Given the description of an element on the screen output the (x, y) to click on. 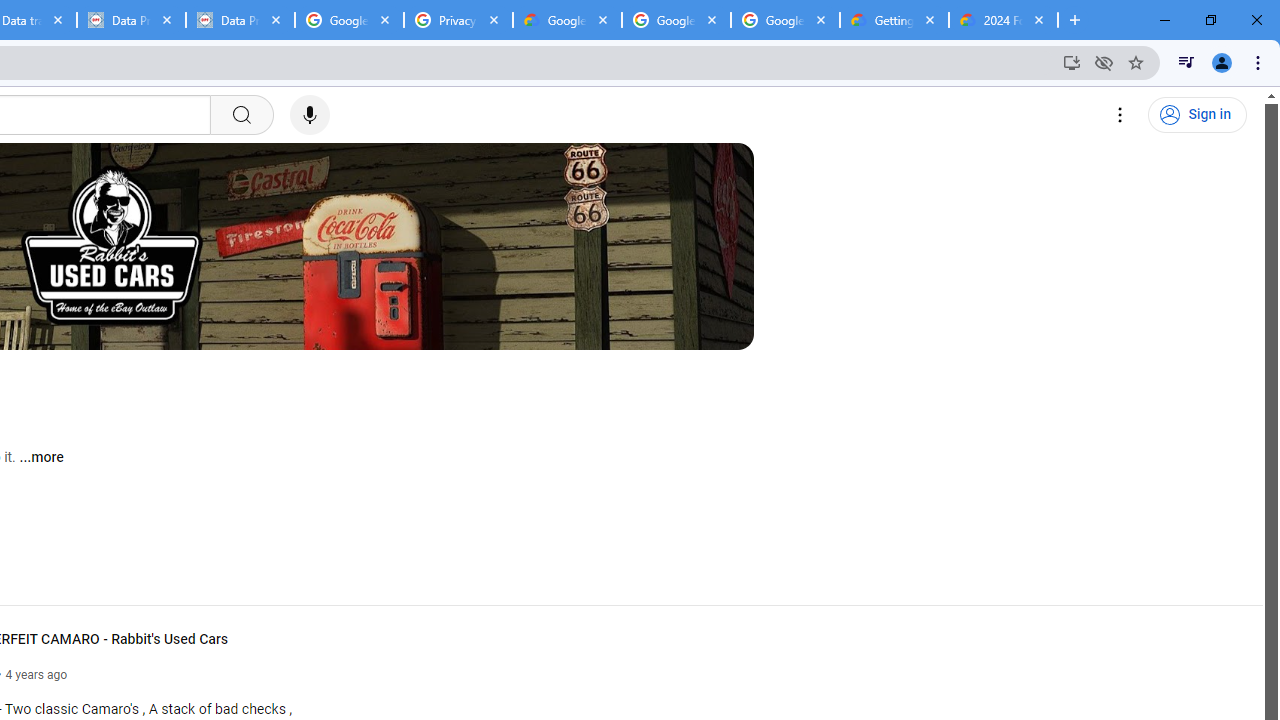
Settings (1119, 115)
Install YouTube (1071, 62)
Control your music, videos, and more (1185, 62)
Search (240, 115)
Data Privacy Framework (130, 20)
Google Workspace - Specific Terms (784, 20)
Google Cloud Terms Directory | Google Cloud (567, 20)
